Given the description of an element on the screen output the (x, y) to click on. 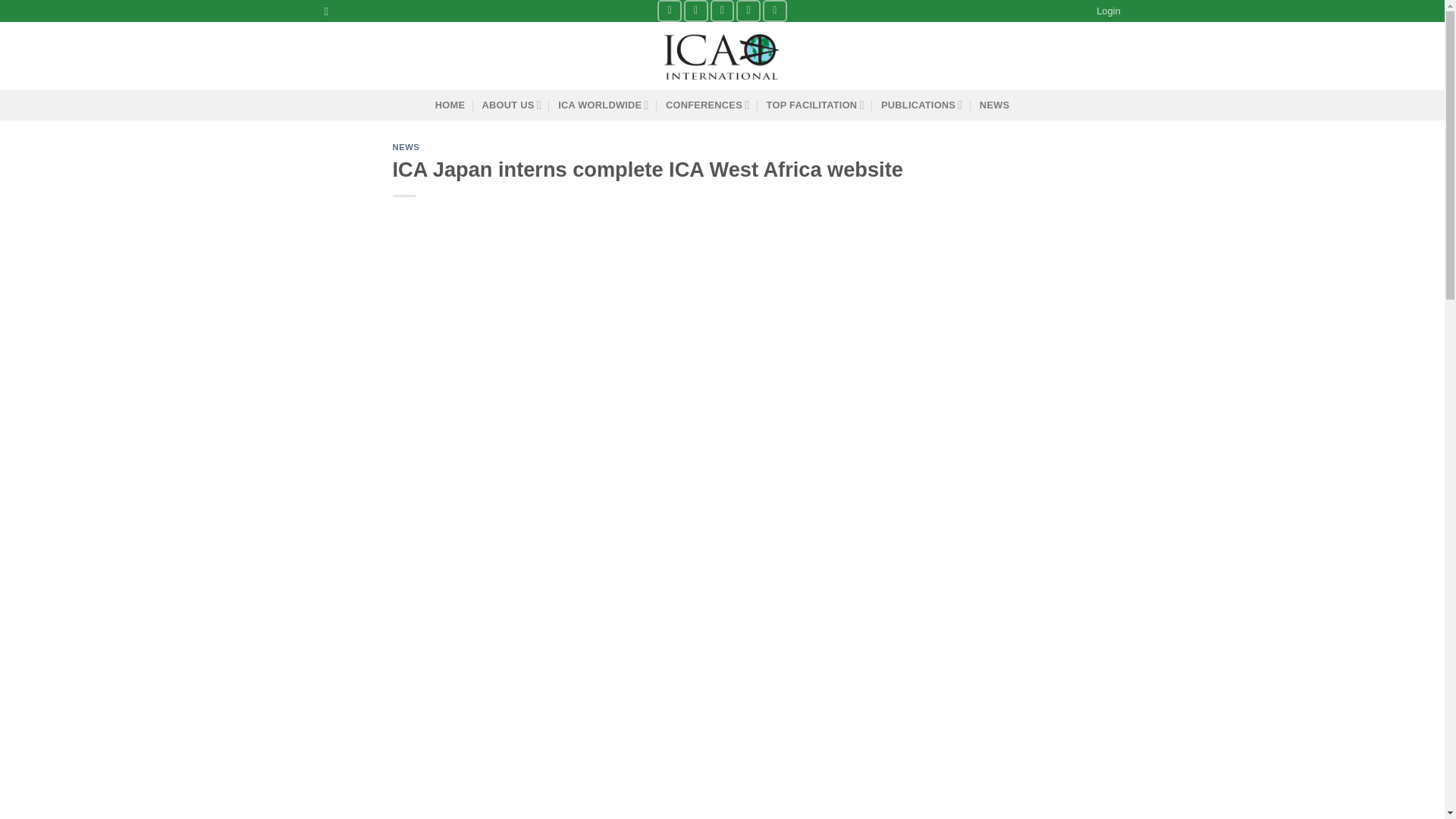
Login (1107, 11)
Follow on Twitter (722, 11)
ABOUT US (511, 104)
Follow on Instagram (695, 11)
Follow on LinkedIn (774, 11)
Follow on Facebook (669, 11)
Send us an email (748, 11)
HOME (449, 104)
ICA WORLDWIDE (603, 104)
